Given the description of an element on the screen output the (x, y) to click on. 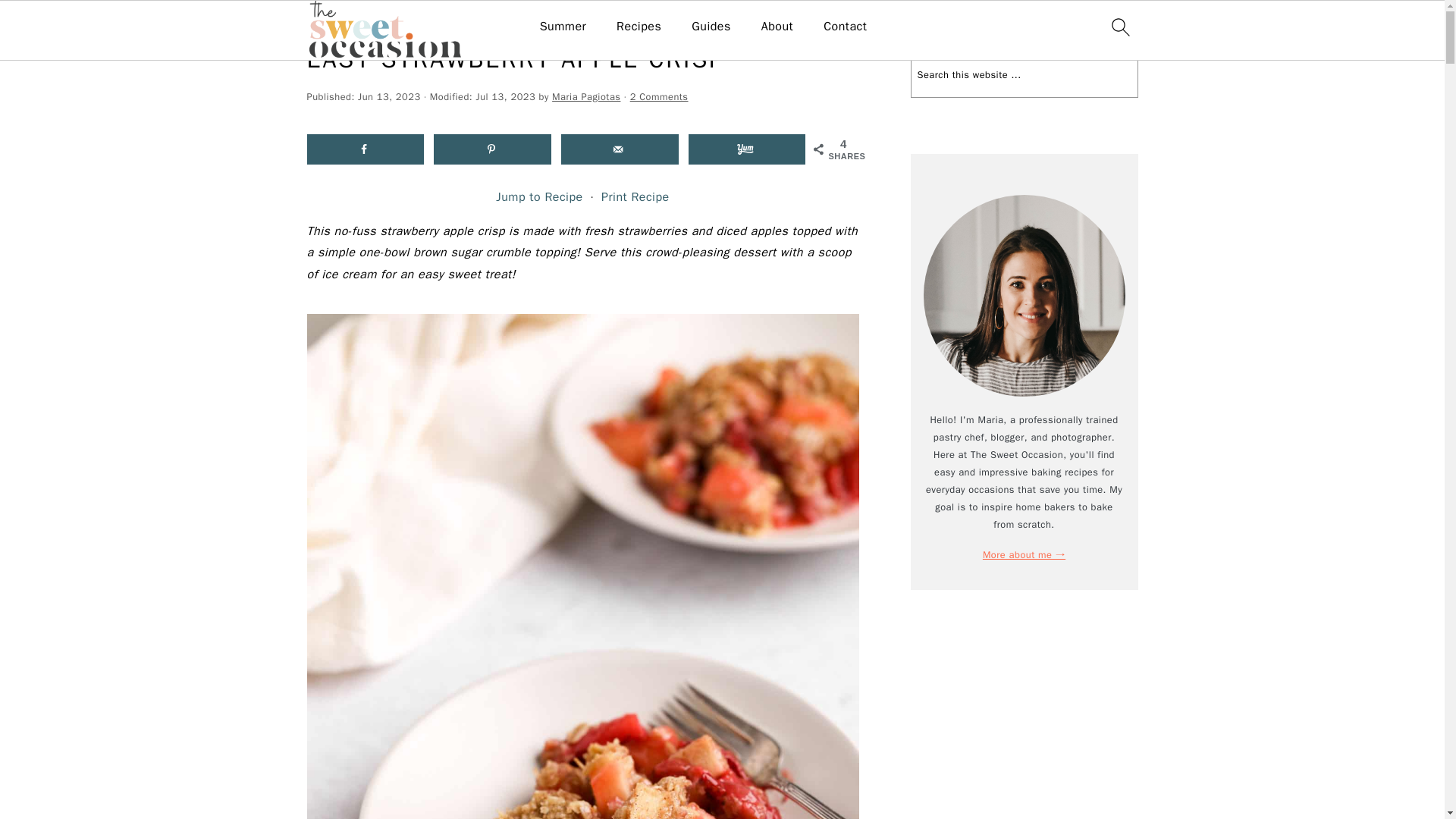
Guides (710, 26)
Summer (563, 26)
About (777, 26)
search icon (1119, 26)
The Sweet Occasion (351, 23)
Send over email (619, 149)
Jump to Recipe (539, 197)
Share on Facebook (364, 149)
Recipes (428, 23)
Maria Pagiotas (585, 96)
